Given the description of an element on the screen output the (x, y) to click on. 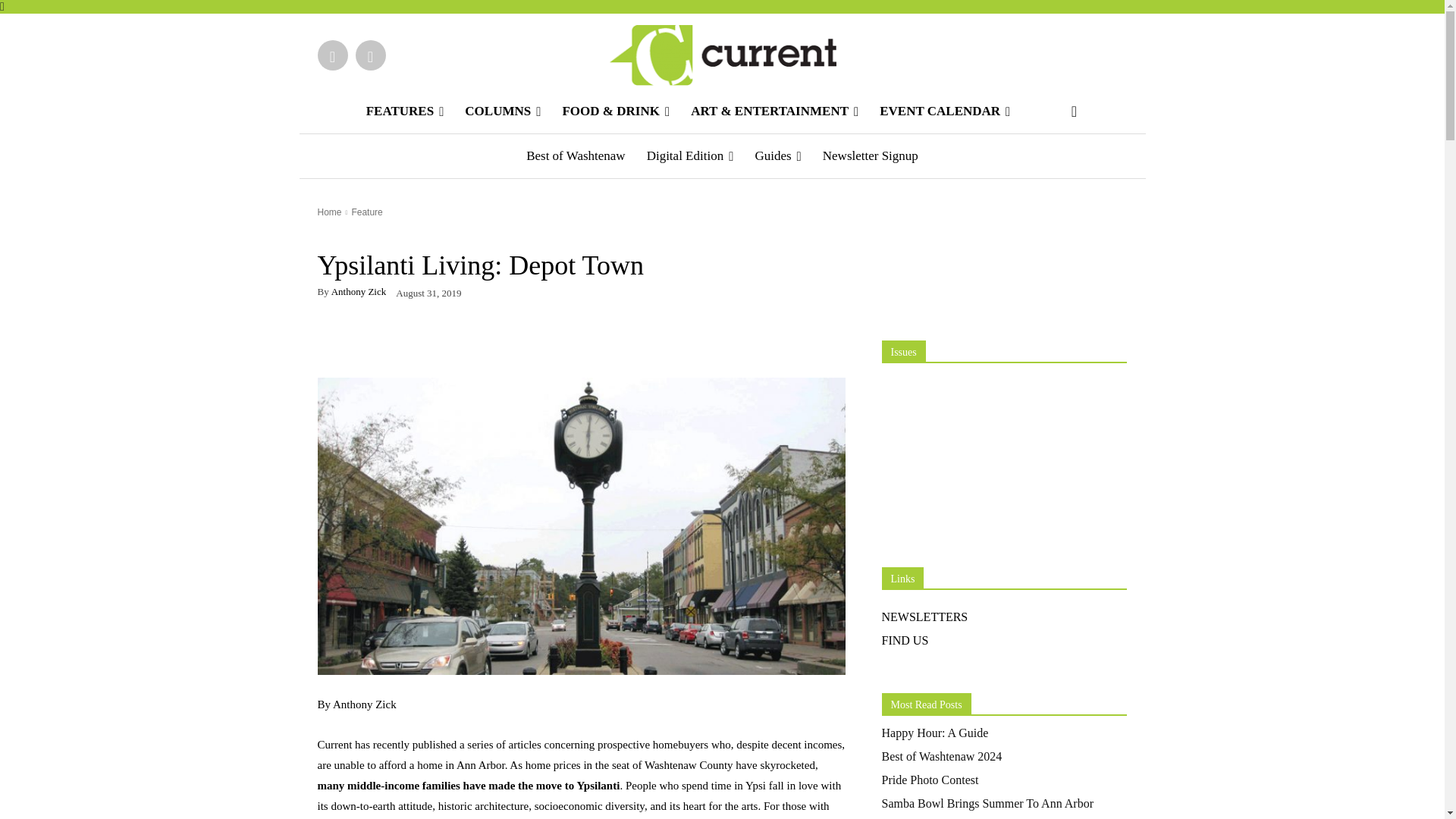
COLUMNS (502, 111)
Instagram (370, 55)
FEATURES (404, 111)
Facebook (332, 55)
View all posts in Feature (365, 212)
